Given the description of an element on the screen output the (x, y) to click on. 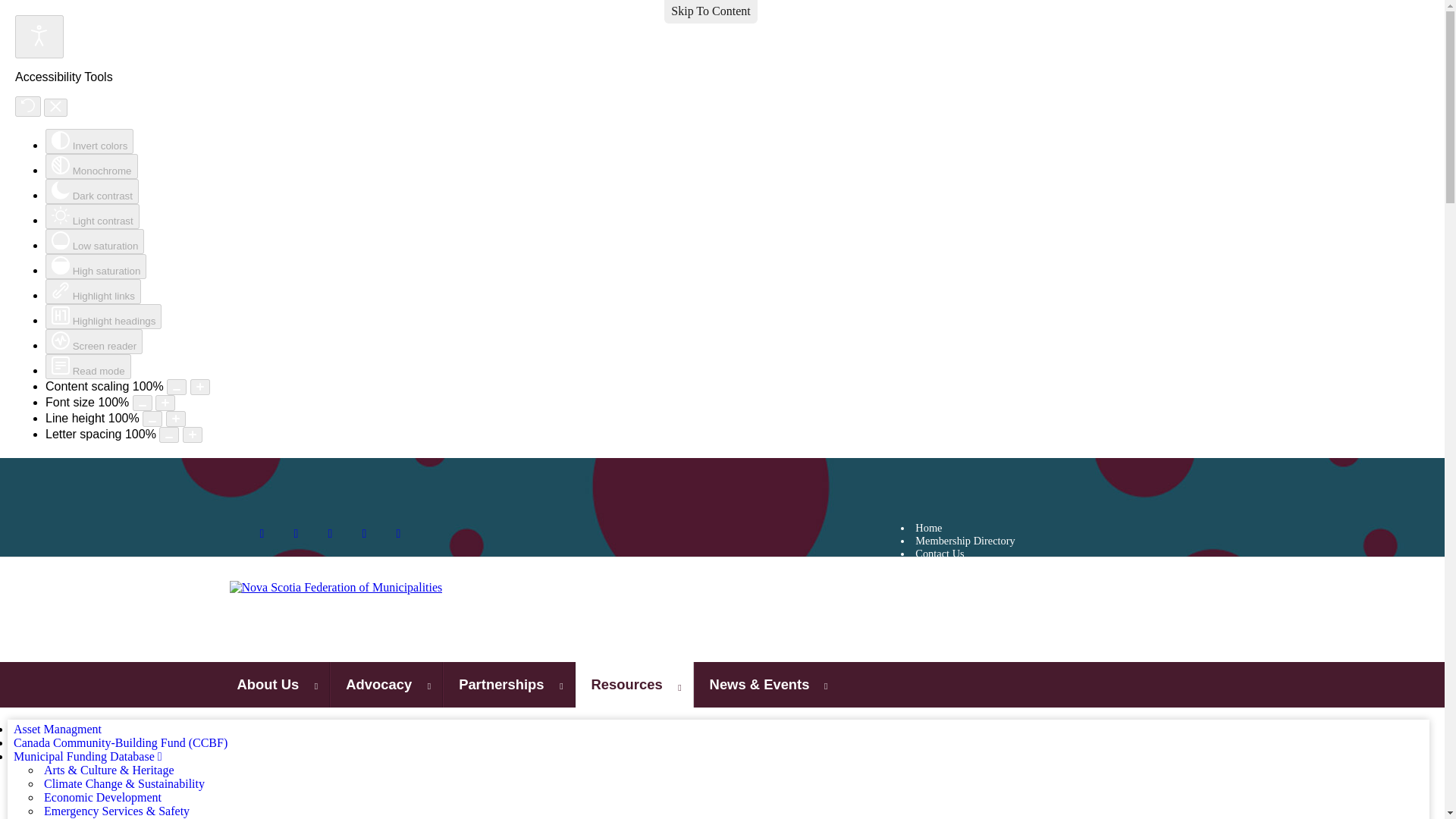
Home (1055, 527)
Decrease content size (176, 386)
Monochrome (91, 166)
Highlight links (93, 291)
Increase font size (164, 402)
Membership Directory (1055, 540)
Light contrast (92, 216)
Decrease line height (151, 418)
Decrease font size (142, 402)
Invert colors (89, 140)
Highlight links (93, 291)
Invert colors (89, 140)
Highlight headings (103, 316)
High saturation (96, 266)
Screen reader (93, 341)
